Given the description of an element on the screen output the (x, y) to click on. 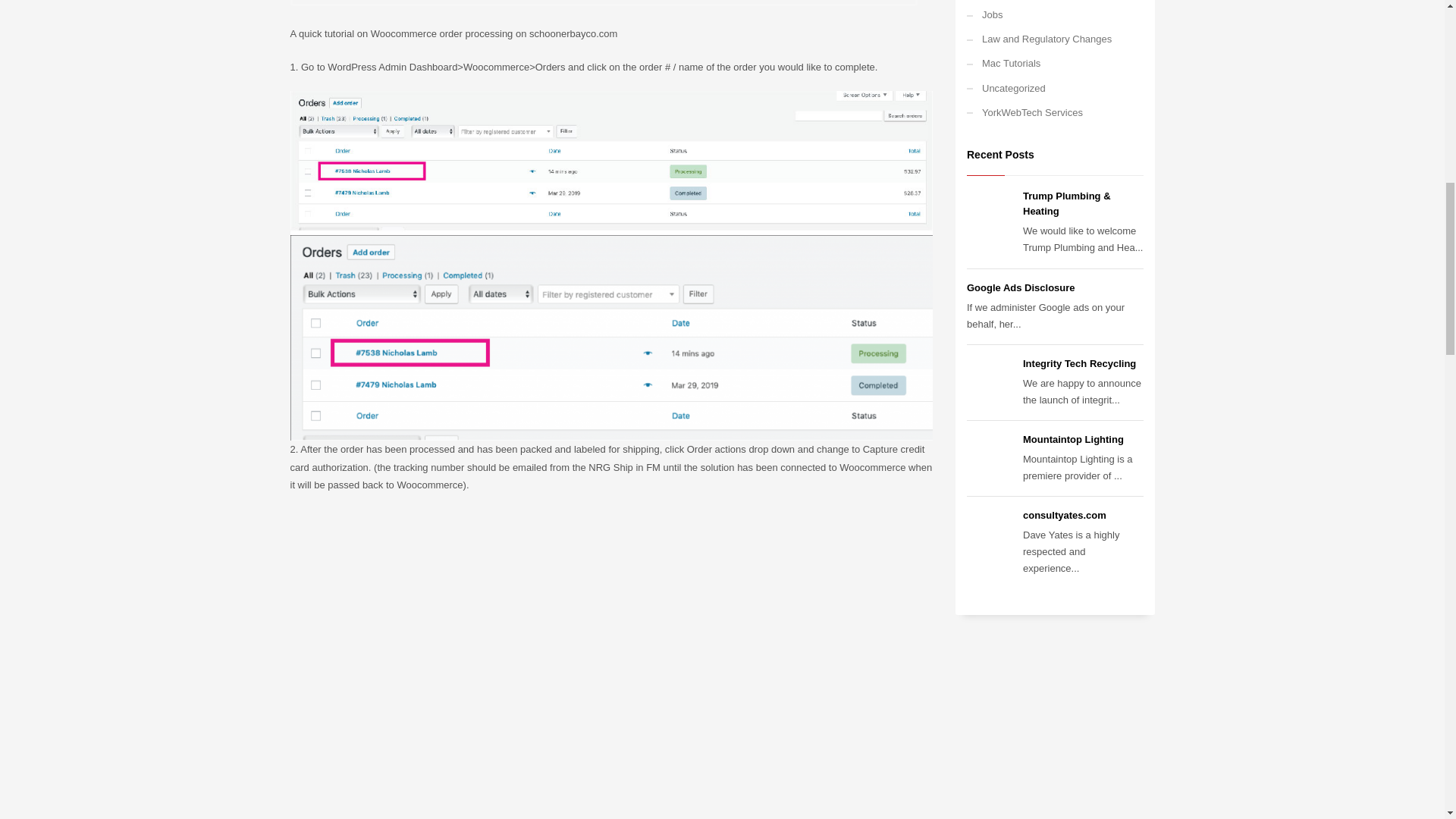
Google Ads Disclosure (1020, 287)
Integrity Tech Recycling (1079, 363)
